Given the description of an element on the screen output the (x, y) to click on. 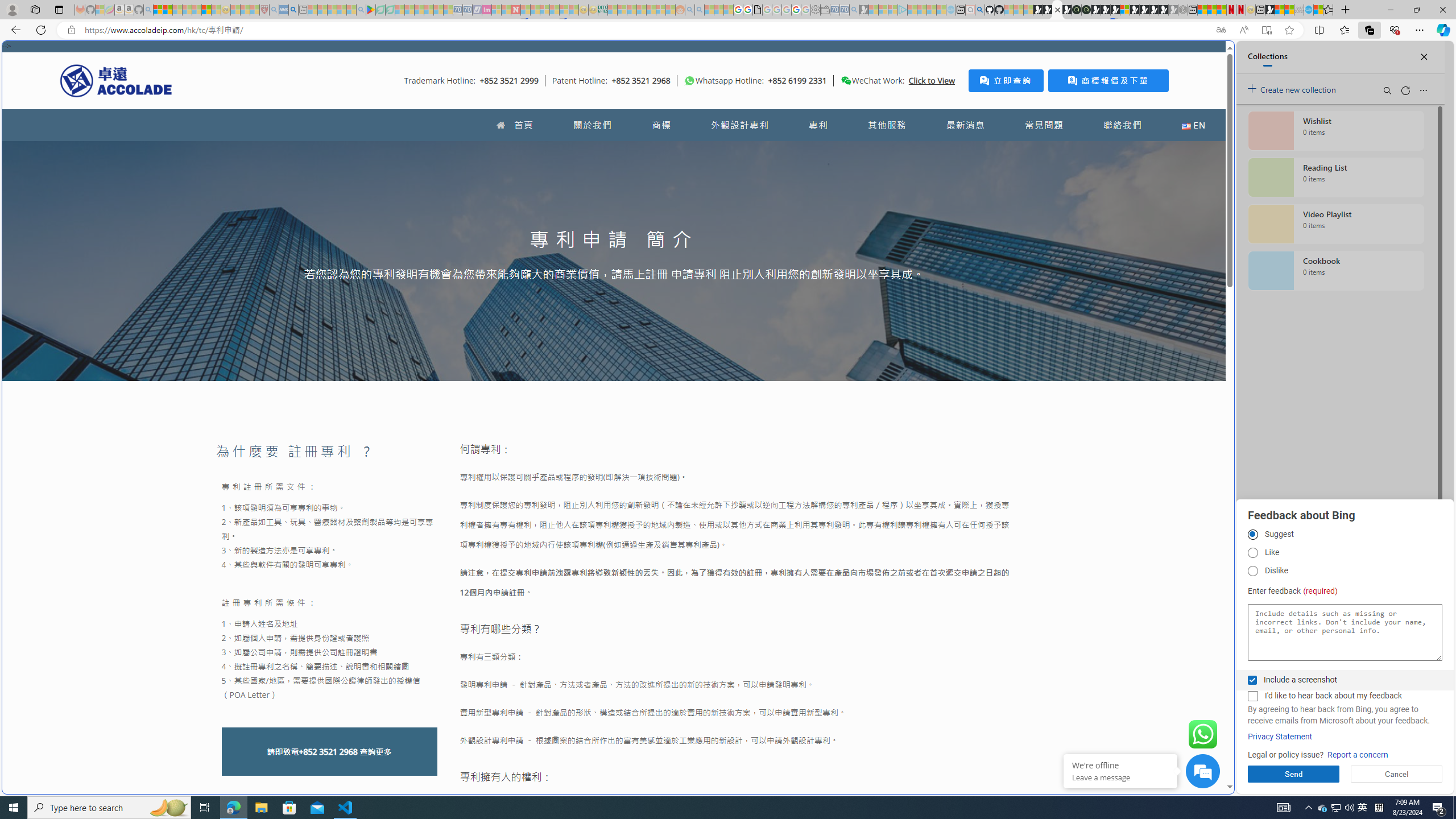
Include a screenshot (1251, 679)
Privacy Statement (1280, 737)
Sign in to your account (1124, 9)
Terms of Use Agreement - Sleeping (380, 9)
Play Cave FRVR in your browser | Games from Microsoft Start (1105, 9)
